Given the description of an element on the screen output the (x, y) to click on. 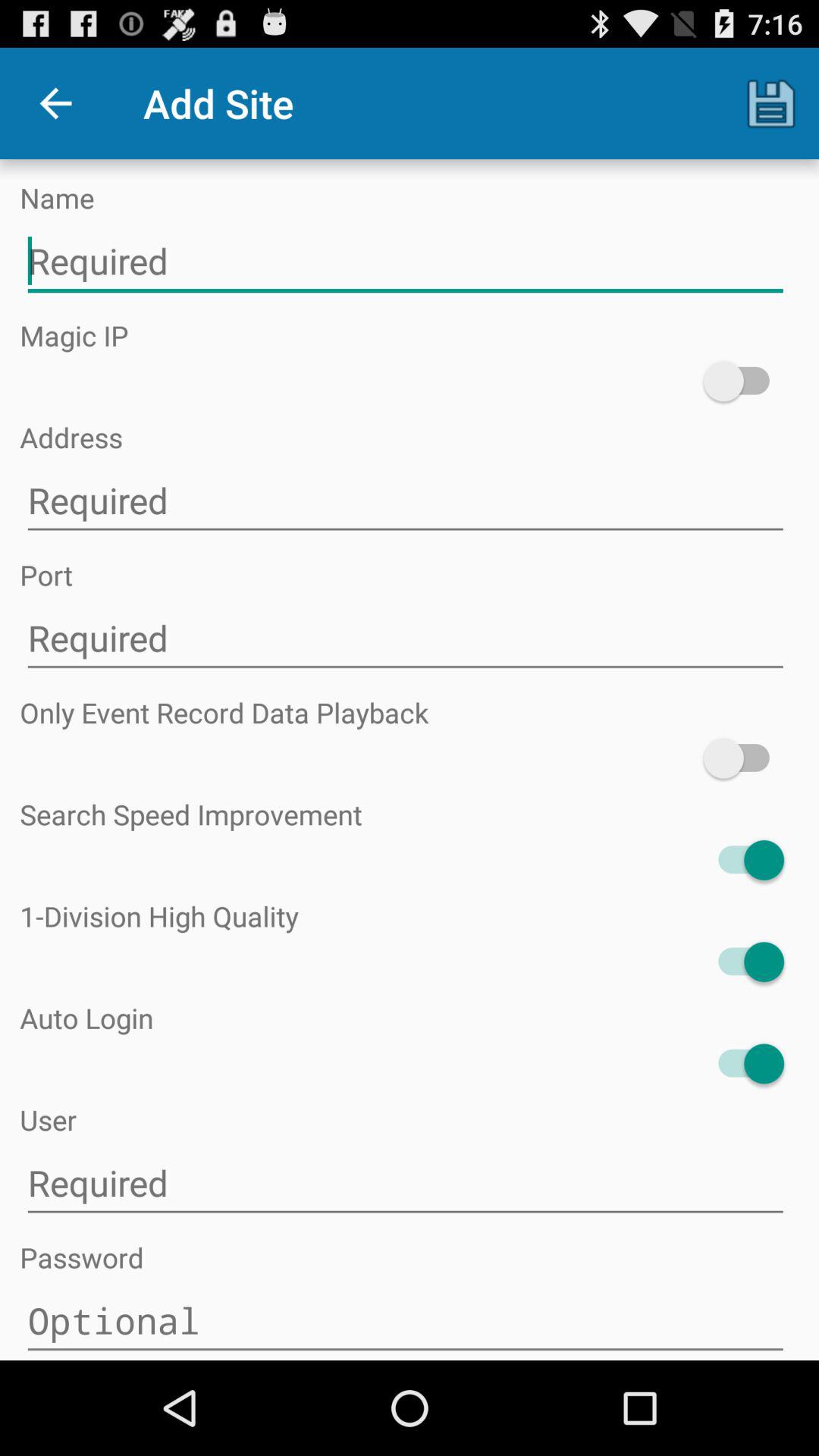
launch icon below the user (405, 1183)
